Given the description of an element on the screen output the (x, y) to click on. 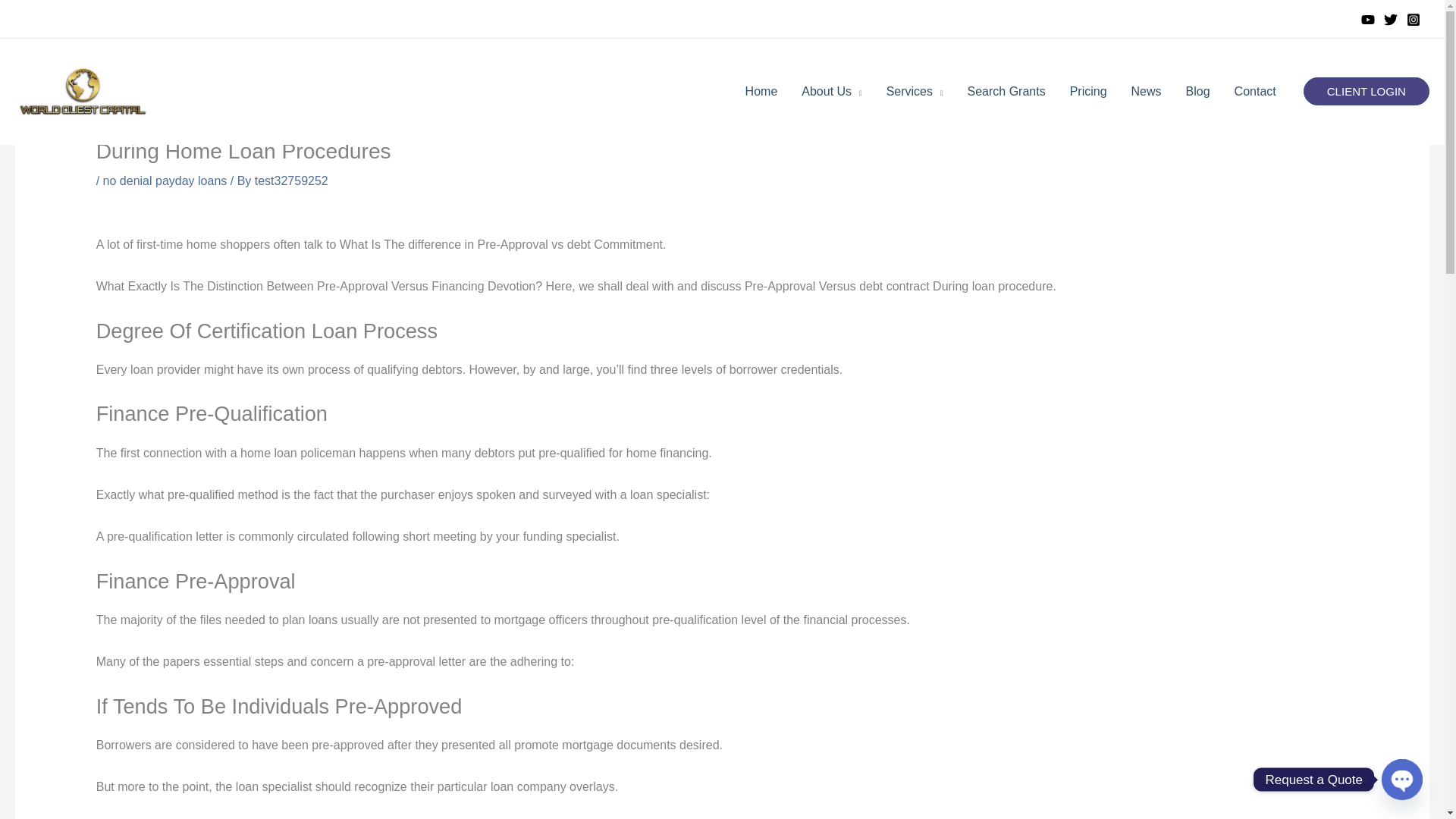
Blog (1198, 91)
Services (915, 91)
View all posts by test32759252 (291, 180)
Pricing (1088, 91)
About Us (831, 91)
Search Grants (1006, 91)
Contact (1255, 91)
Home (761, 91)
News (1146, 91)
CLIENT LOGIN (1366, 90)
